Given the description of an element on the screen output the (x, y) to click on. 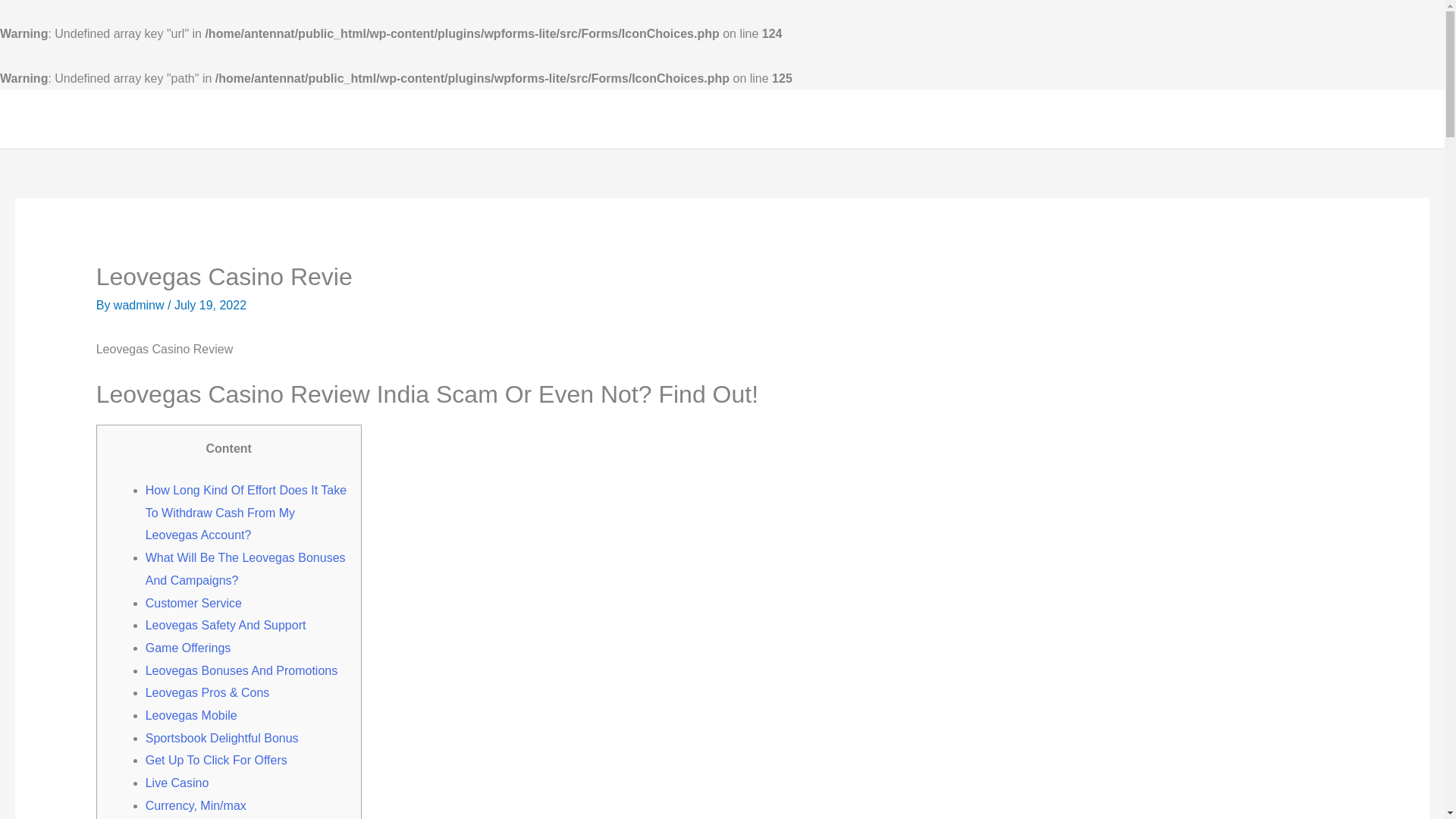
What Will Be The Leovegas Bonuses And Campaigns? (245, 569)
Get Up To Click For Offers (215, 759)
Customer Service (193, 602)
Leovegas Safety And Support (225, 625)
Antenna Tactical (120, 119)
Radio Antenna (1299, 119)
Leovegas Bonuses And Promotions (241, 670)
View all posts by wadminw (140, 305)
Live Casino (177, 782)
